Given the description of an element on the screen output the (x, y) to click on. 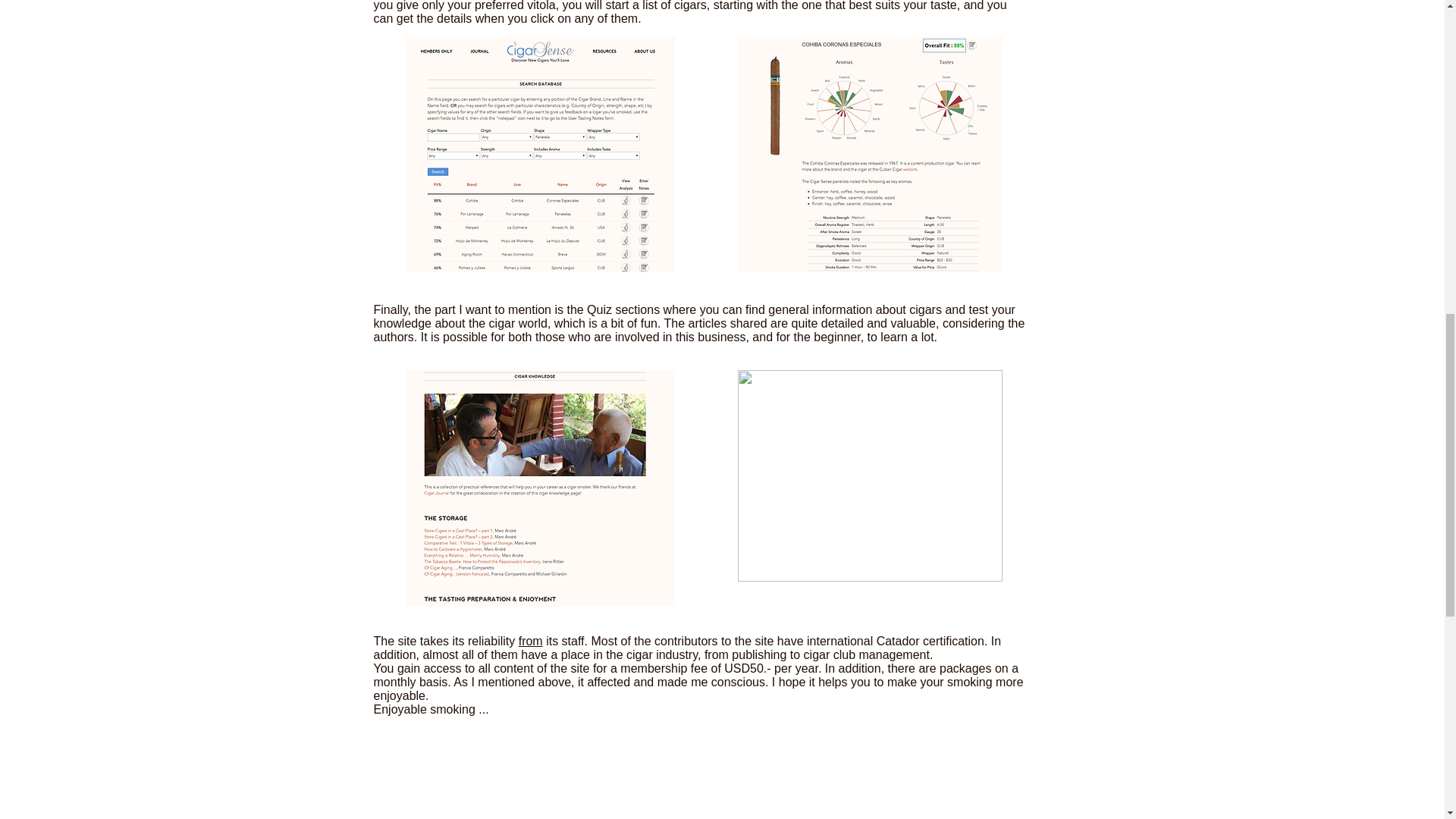
from (530, 640)
